Given the description of an element on the screen output the (x, y) to click on. 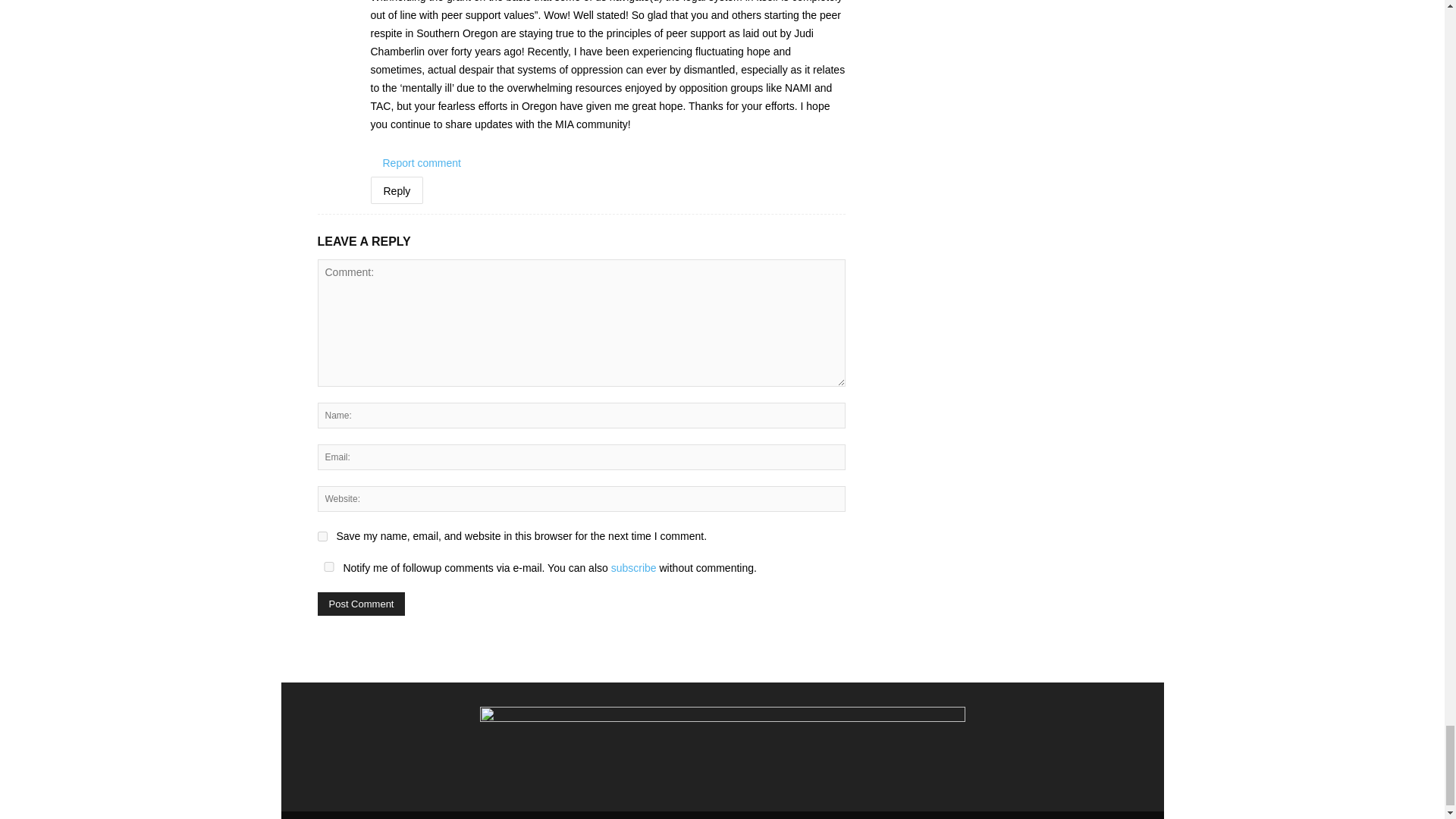
yes (328, 566)
yes (321, 536)
Post Comment (360, 603)
